Given the description of an element on the screen output the (x, y) to click on. 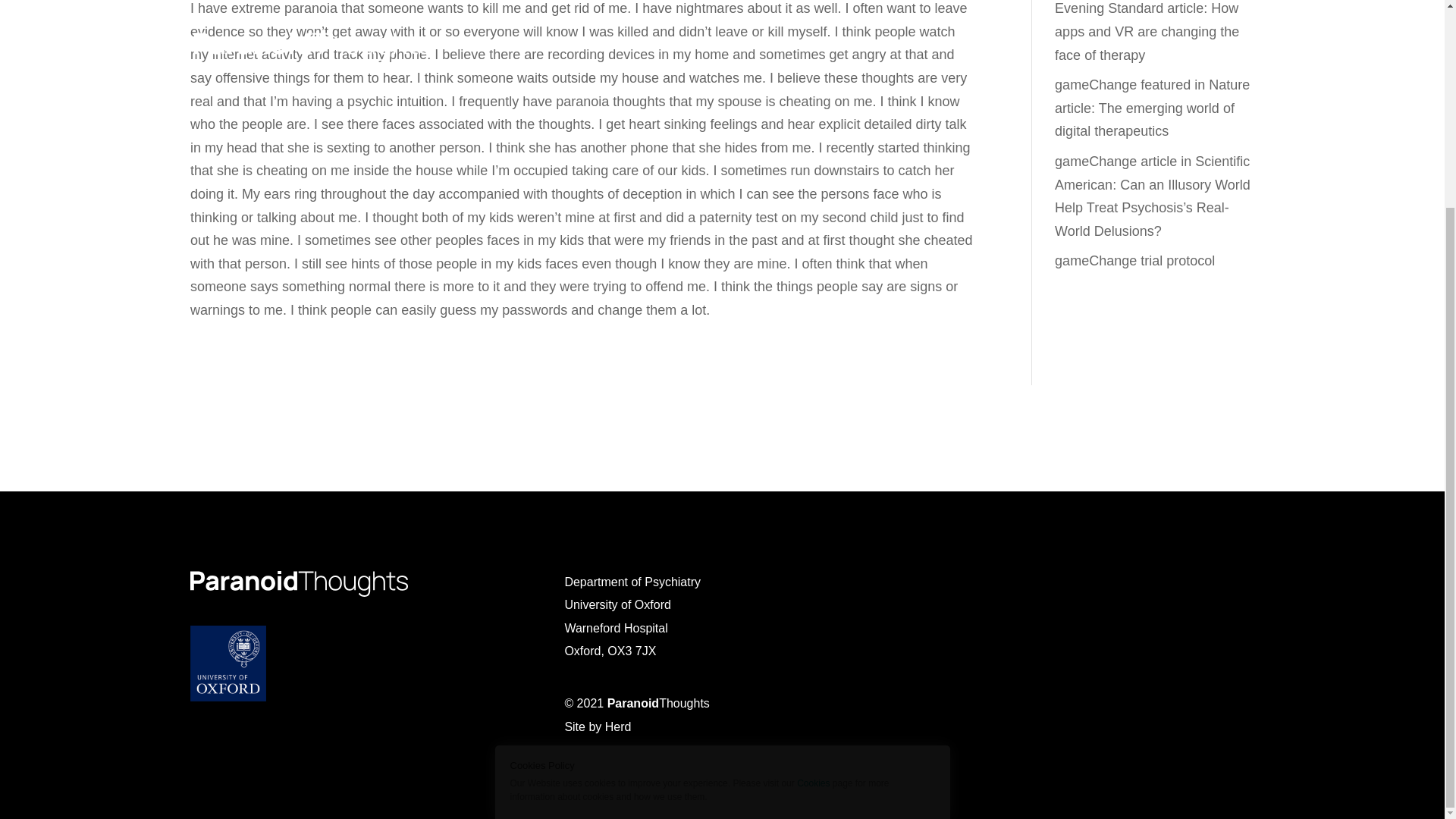
gameChange trial protocol (1134, 260)
Cookies (812, 514)
Herd (618, 726)
logo (298, 583)
